Given the description of an element on the screen output the (x, y) to click on. 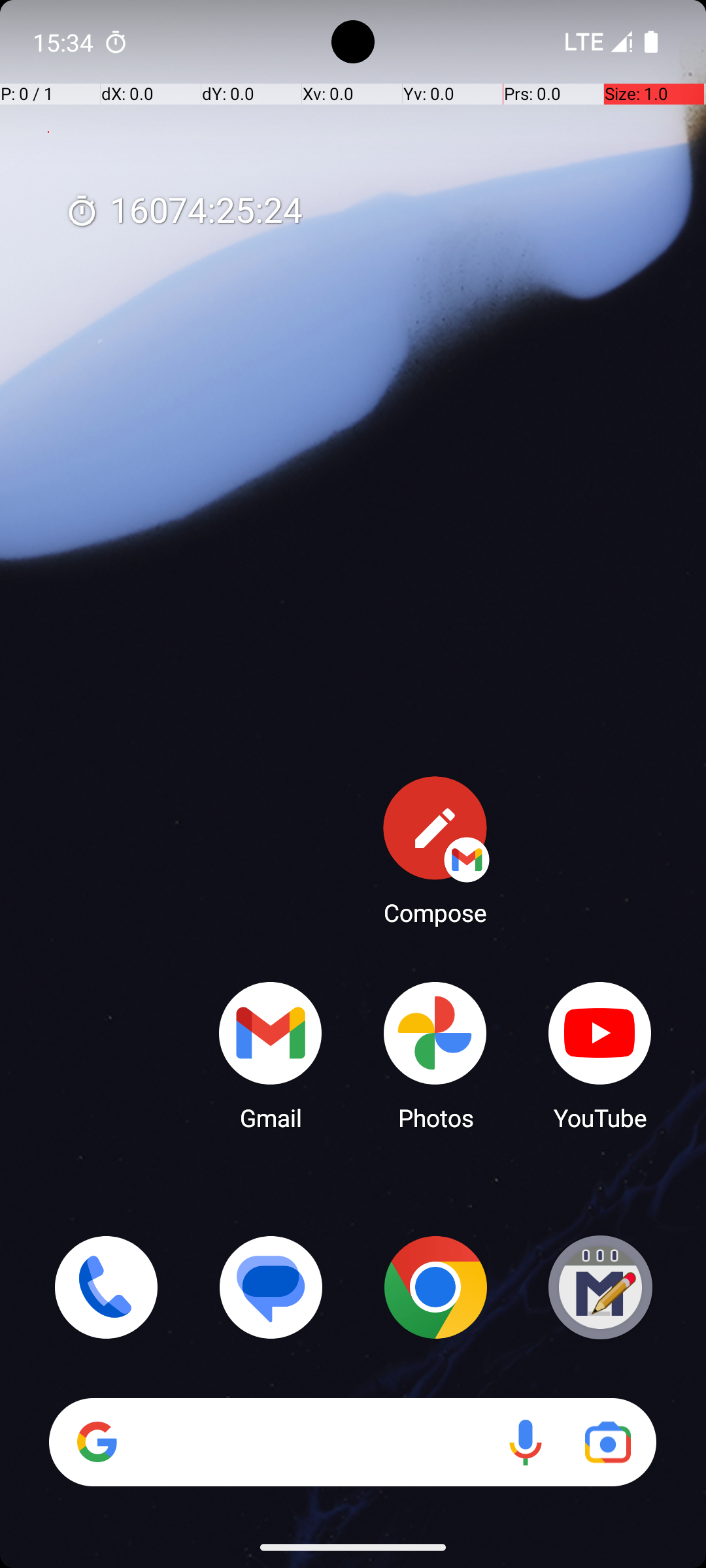
16074:25:24 Element type: android.widget.TextView (183, 210)
